Given the description of an element on the screen output the (x, y) to click on. 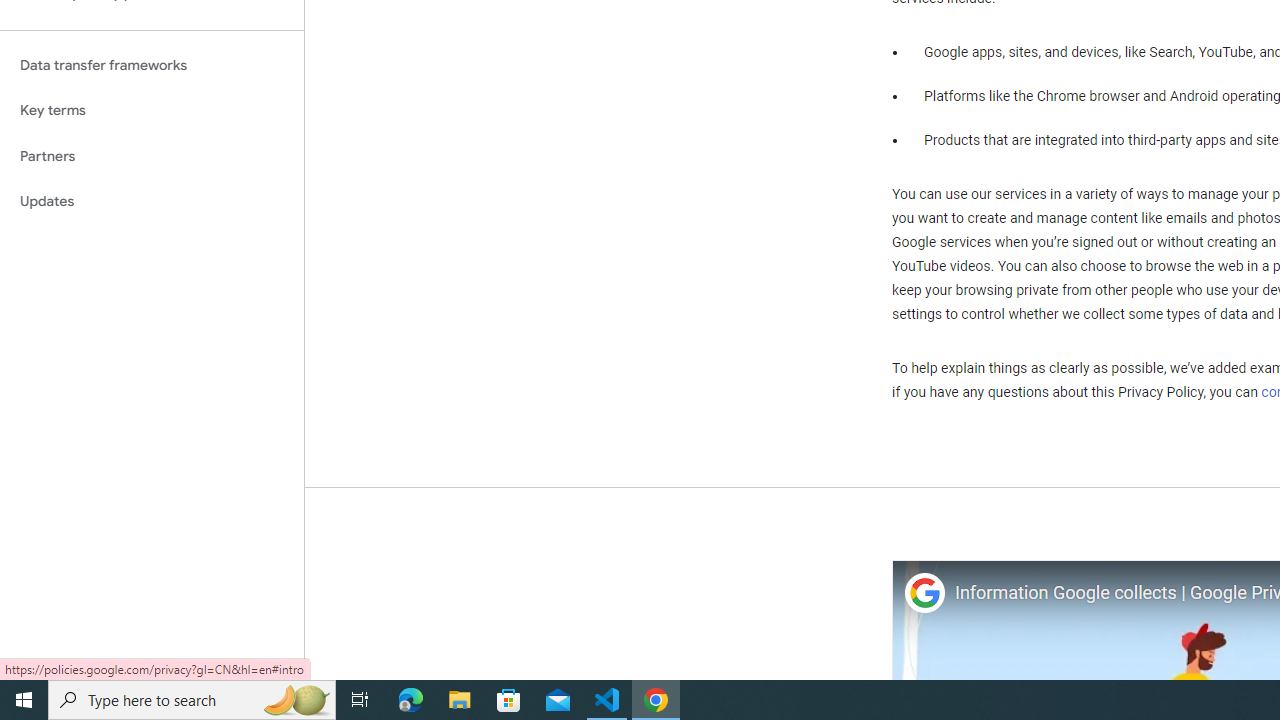
Partners (152, 156)
Photo image of Google (924, 593)
Updates (152, 201)
Key terms (152, 110)
Data transfer frameworks (152, 65)
